Given the description of an element on the screen output the (x, y) to click on. 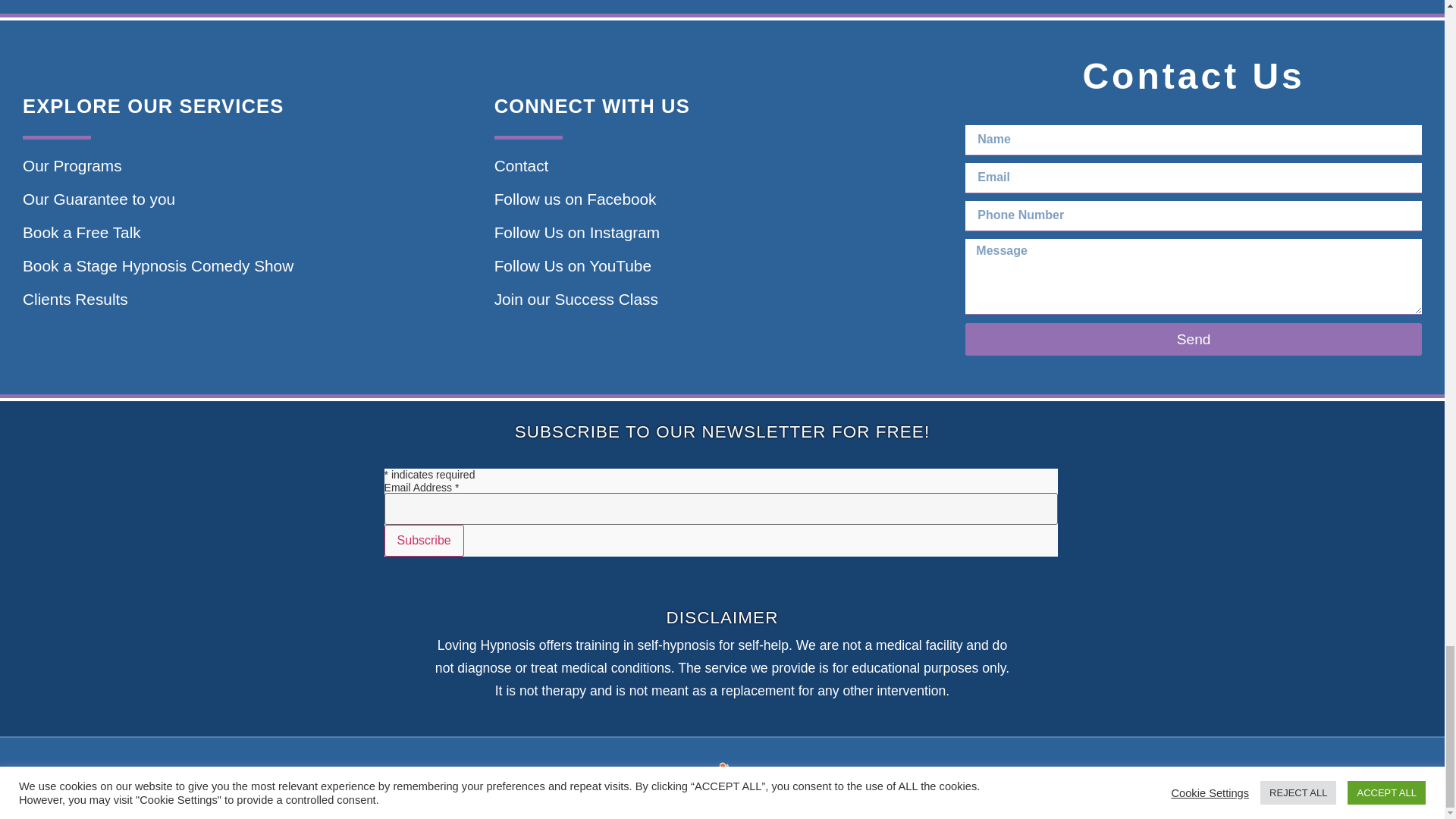
Subscribe (424, 540)
